Given the description of an element on the screen output the (x, y) to click on. 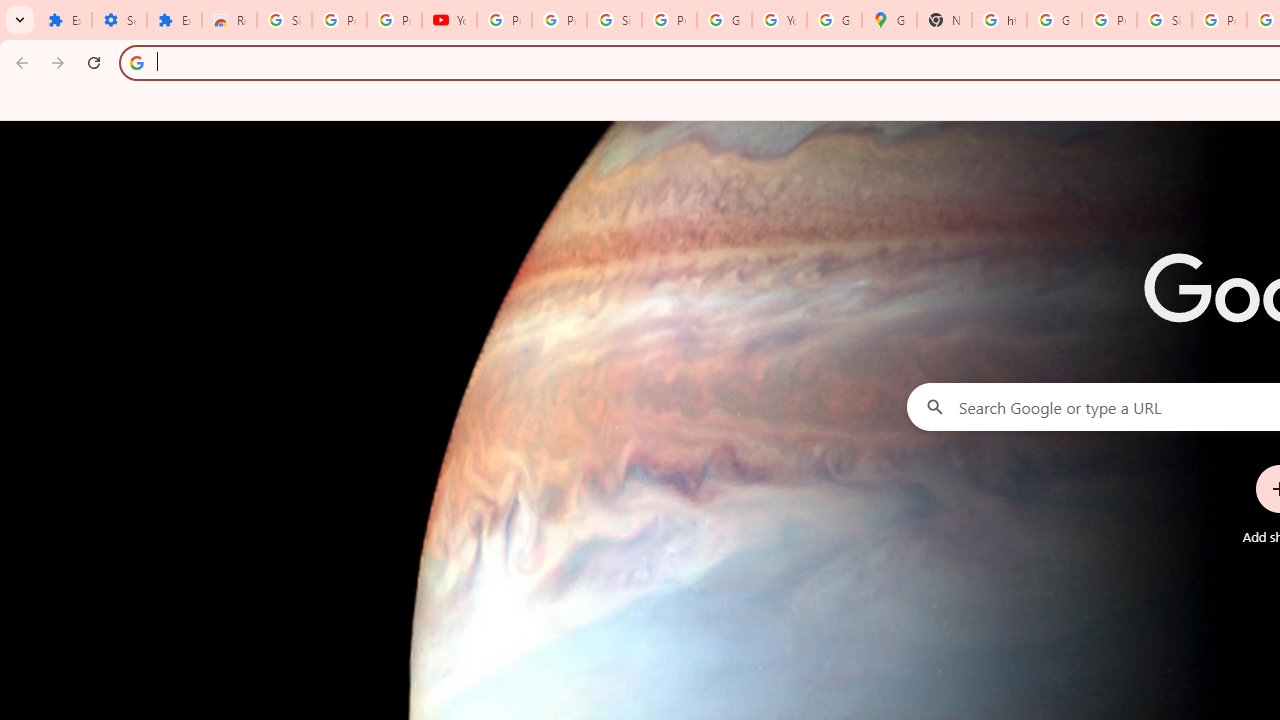
Sign in - Google Accounts (614, 20)
Reviews: Helix Fruit Jump Arcade Game (229, 20)
New Tab (943, 20)
YouTube (449, 20)
